Given the description of an element on the screen output the (x, y) to click on. 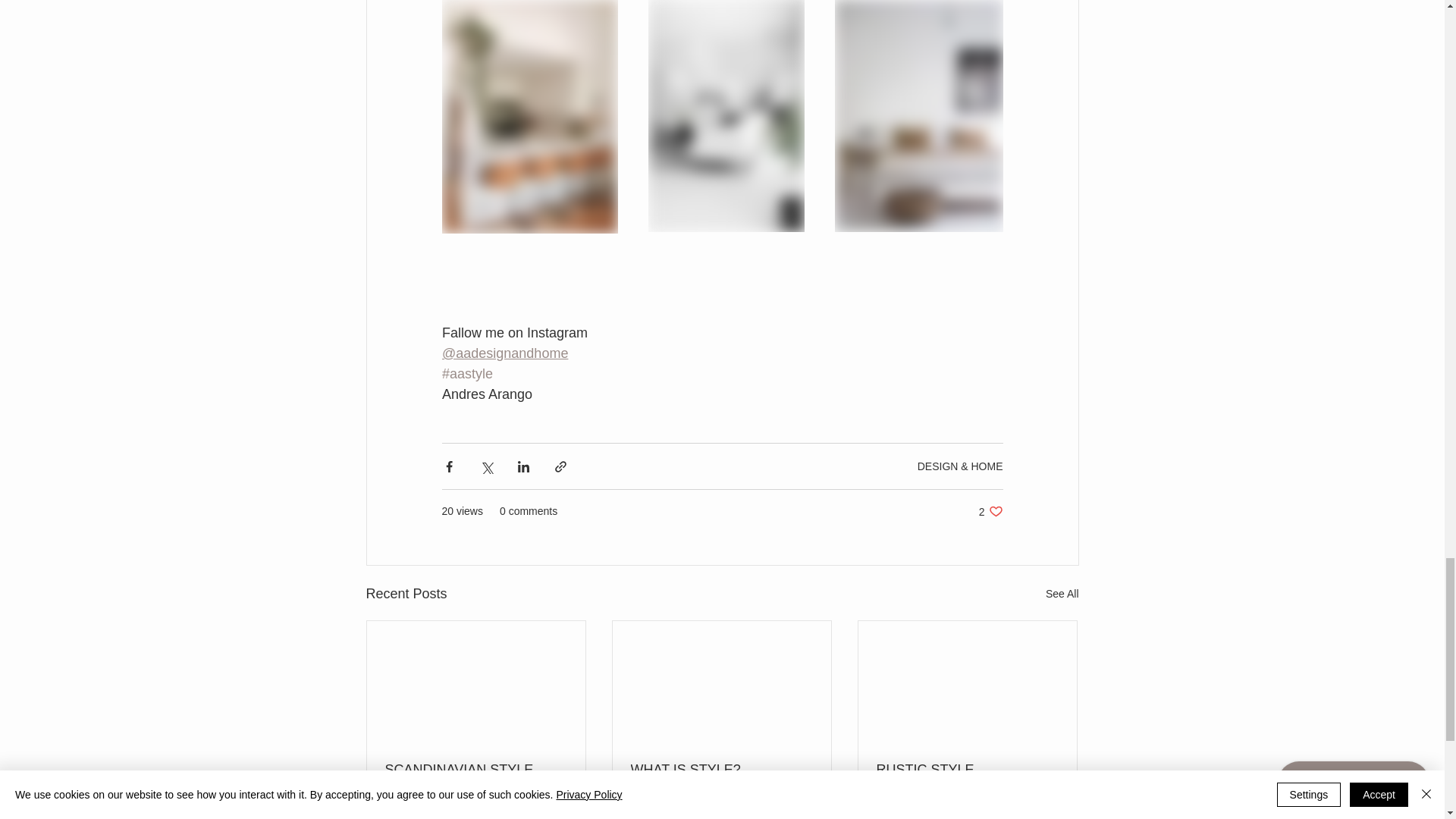
See All (1061, 594)
SCANDINAVIAN STYLE (476, 770)
